Given the description of an element on the screen output the (x, y) to click on. 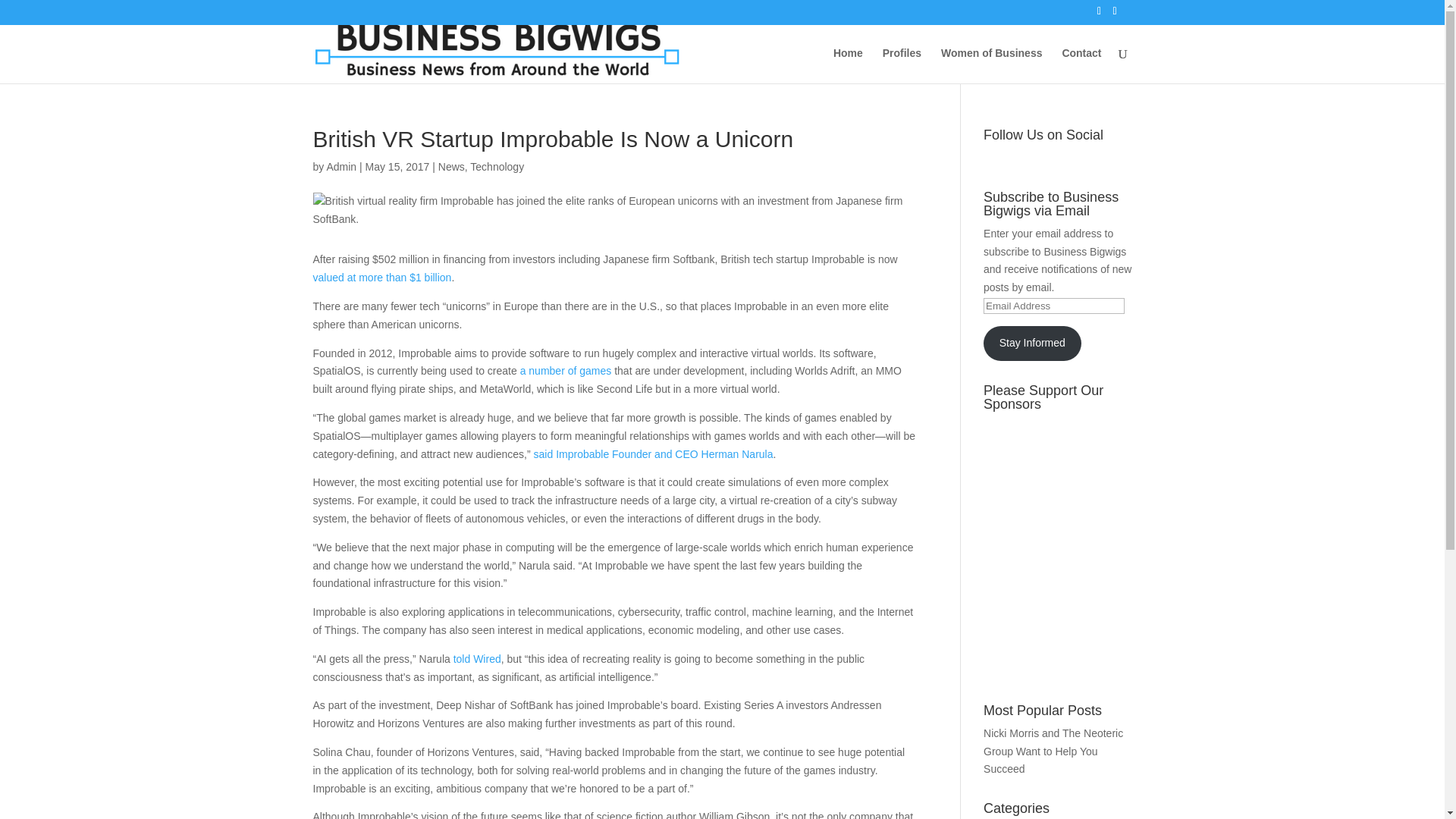
Posts by Admin (341, 166)
Technology (497, 166)
a number of games (565, 370)
told Wired (476, 658)
said Improbable Founder and CEO Herman Narula (653, 453)
Stay Informed (1032, 343)
News (451, 166)
Women of Business (991, 65)
Nicki Morris and The Neoteric Group Want to Help You Succeed (1053, 751)
Advertisement (1051, 617)
